Given the description of an element on the screen output the (x, y) to click on. 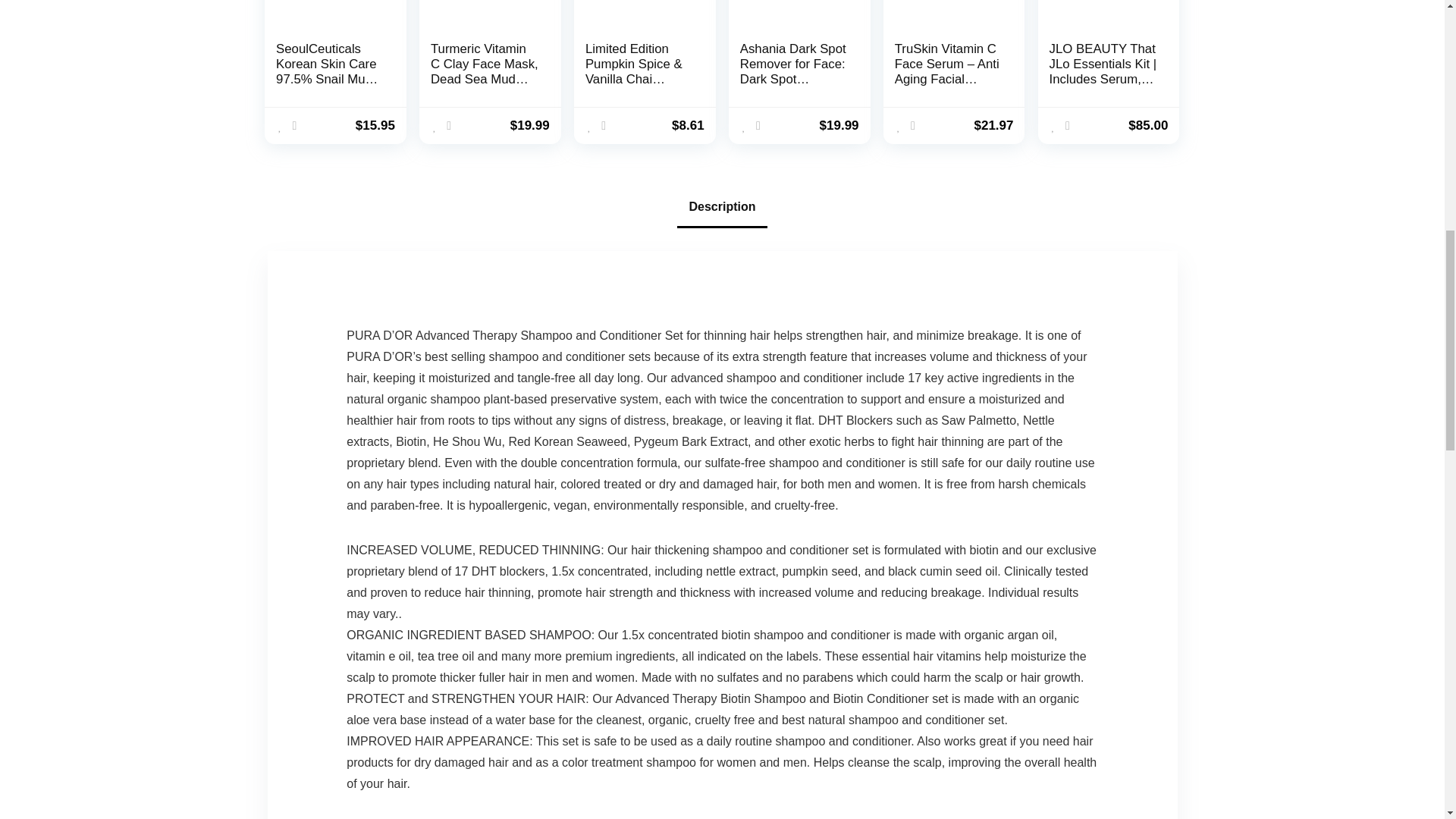
Description (721, 206)
